Given the description of an element on the screen output the (x, y) to click on. 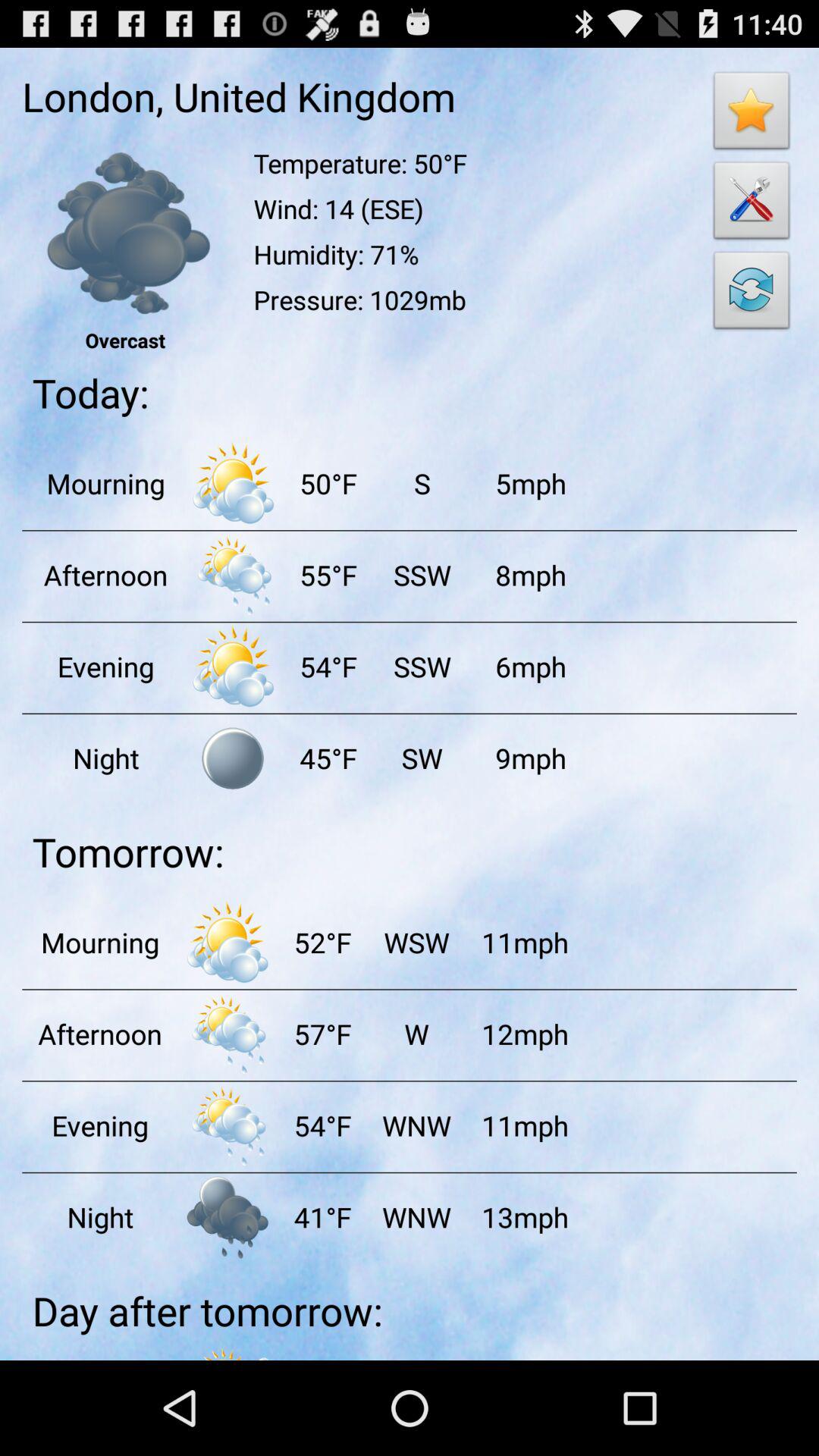
turn on item above the 6mph icon (530, 574)
